Given the description of an element on the screen output the (x, y) to click on. 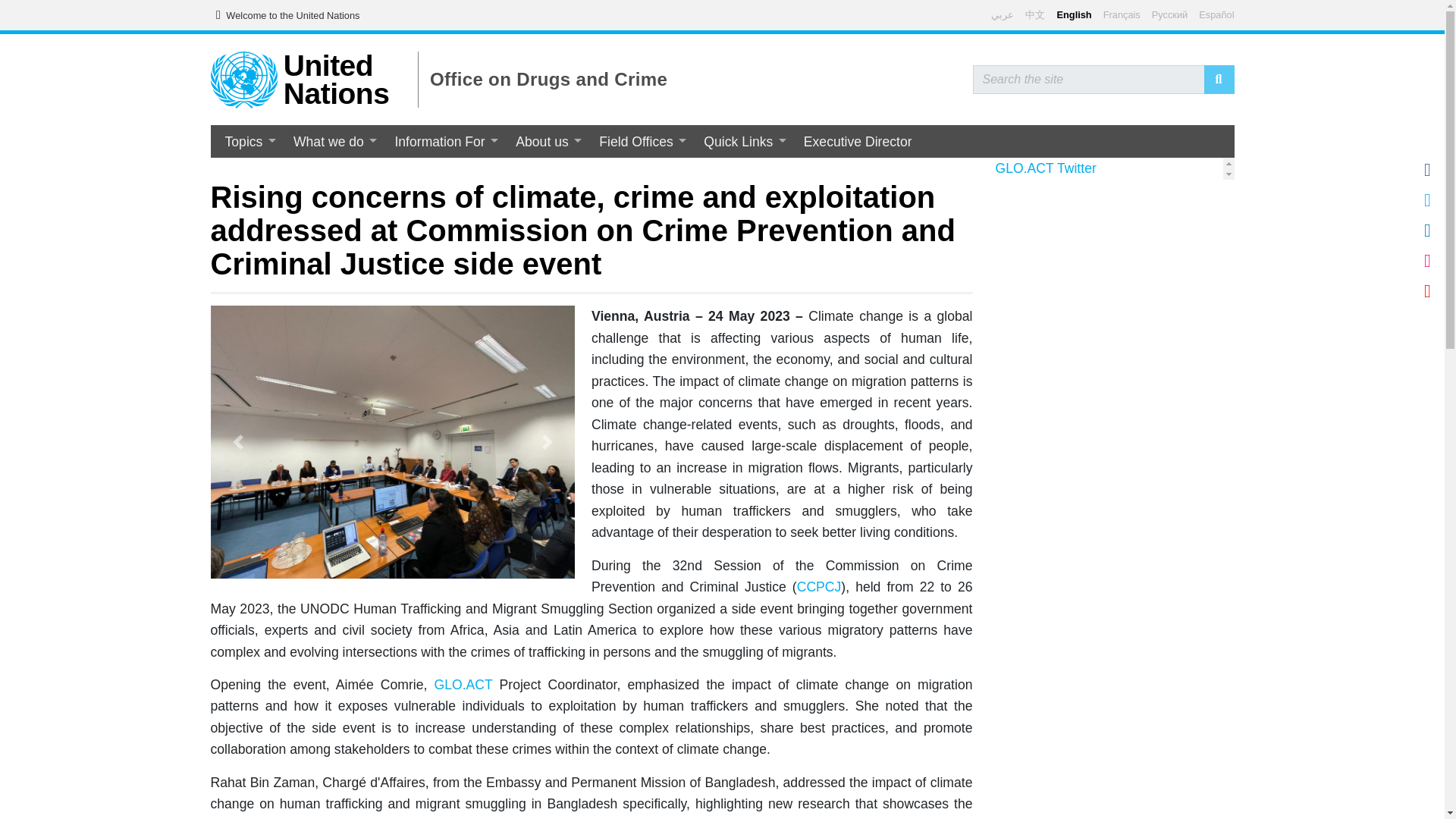
United Nations (336, 79)
Welcome to the United Nations (283, 14)
Office on Drugs and Crime (547, 78)
Topics (249, 141)
English (1073, 14)
